Given the description of an element on the screen output the (x, y) to click on. 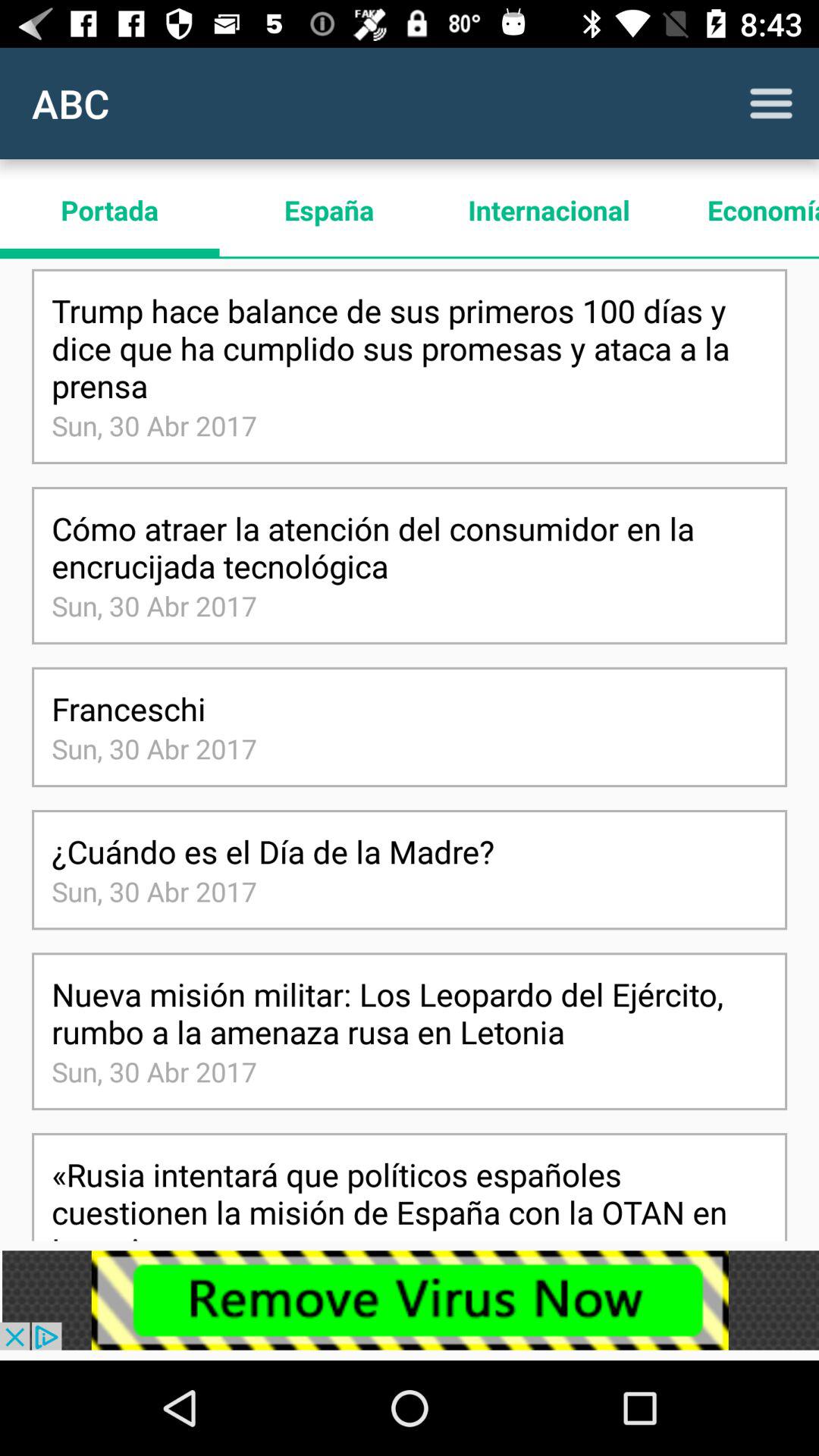
advertisement (409, 1300)
